Given the description of an element on the screen output the (x, y) to click on. 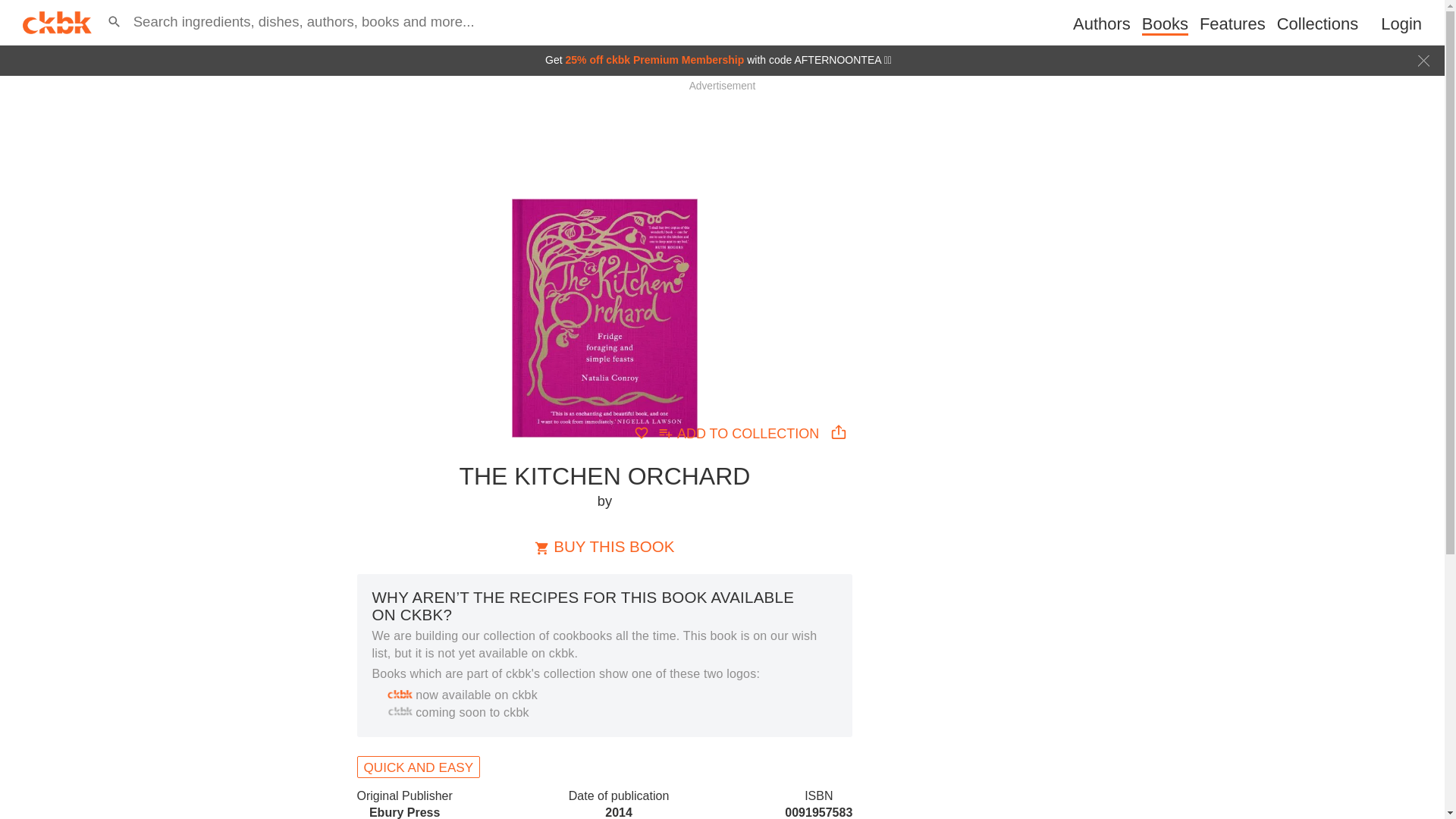
Advertisement (721, 124)
QUICK AND EASY (418, 766)
Features (1232, 24)
Login (1401, 23)
Buy this book (740, 432)
Books (604, 545)
BUY THIS BOOK (1164, 24)
search (604, 545)
Collections (16, 7)
